Given the description of an element on the screen output the (x, y) to click on. 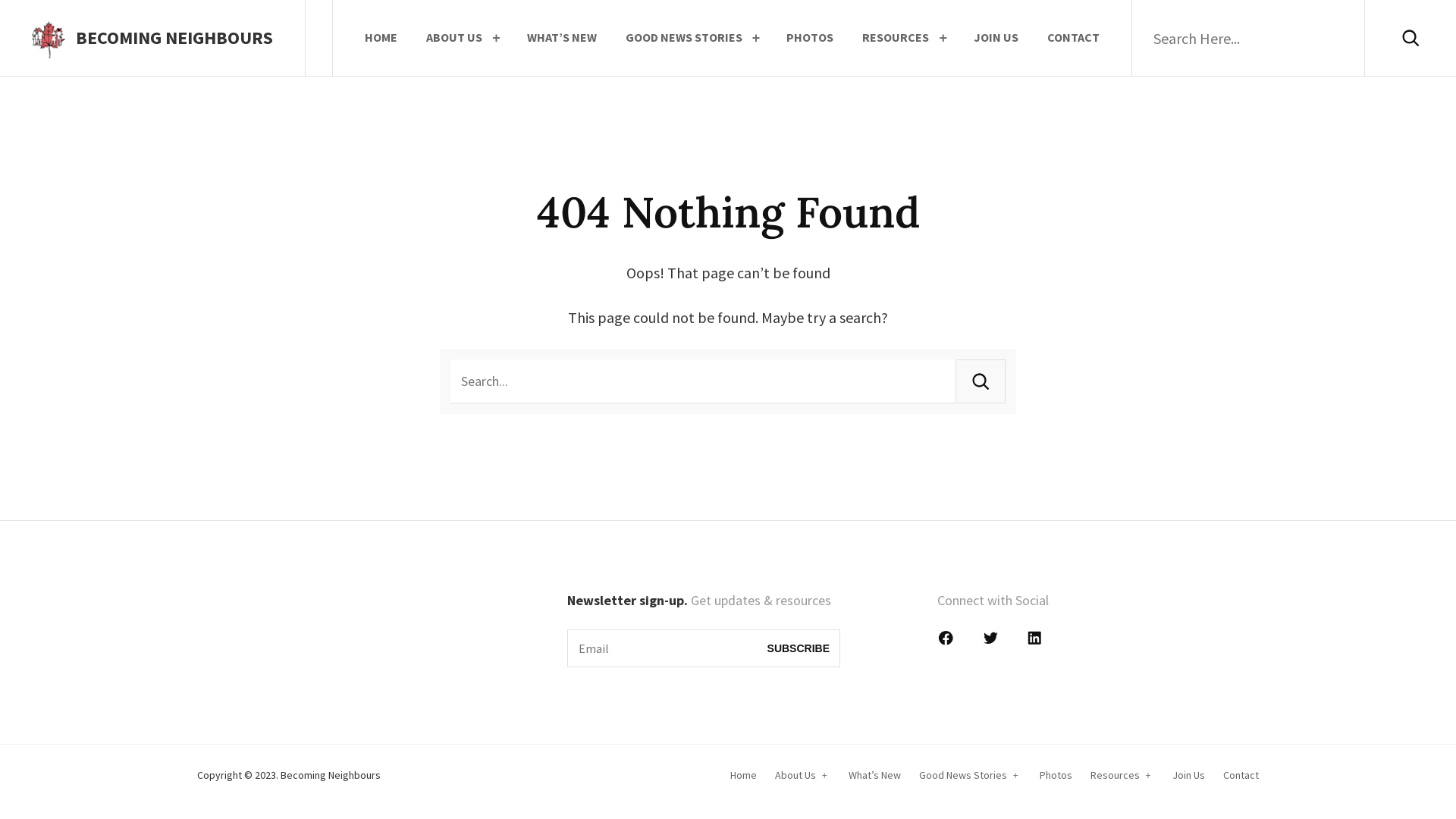
GOOD NEWS STORIES Element type: text (683, 37)
Twitter Element type: text (995, 642)
CONTACT Element type: text (1072, 37)
PHOTOS Element type: text (809, 37)
Home Element type: text (743, 775)
JOIN US Element type: text (995, 37)
LinkedIn Element type: text (1039, 642)
ABOUT US Element type: text (453, 37)
Good News Stories Element type: text (963, 775)
Subscribe Element type: text (798, 648)
RESOURCES Element type: text (895, 37)
HOME Element type: text (380, 37)
Facebook Element type: text (950, 642)
About Us Element type: text (795, 775)
BECOMING NEIGHBOURS Element type: text (169, 37)
Contact Element type: text (1240, 775)
Join Us Element type: text (1188, 775)
Resources Element type: text (1114, 775)
Photos Element type: text (1055, 775)
